Given the description of an element on the screen output the (x, y) to click on. 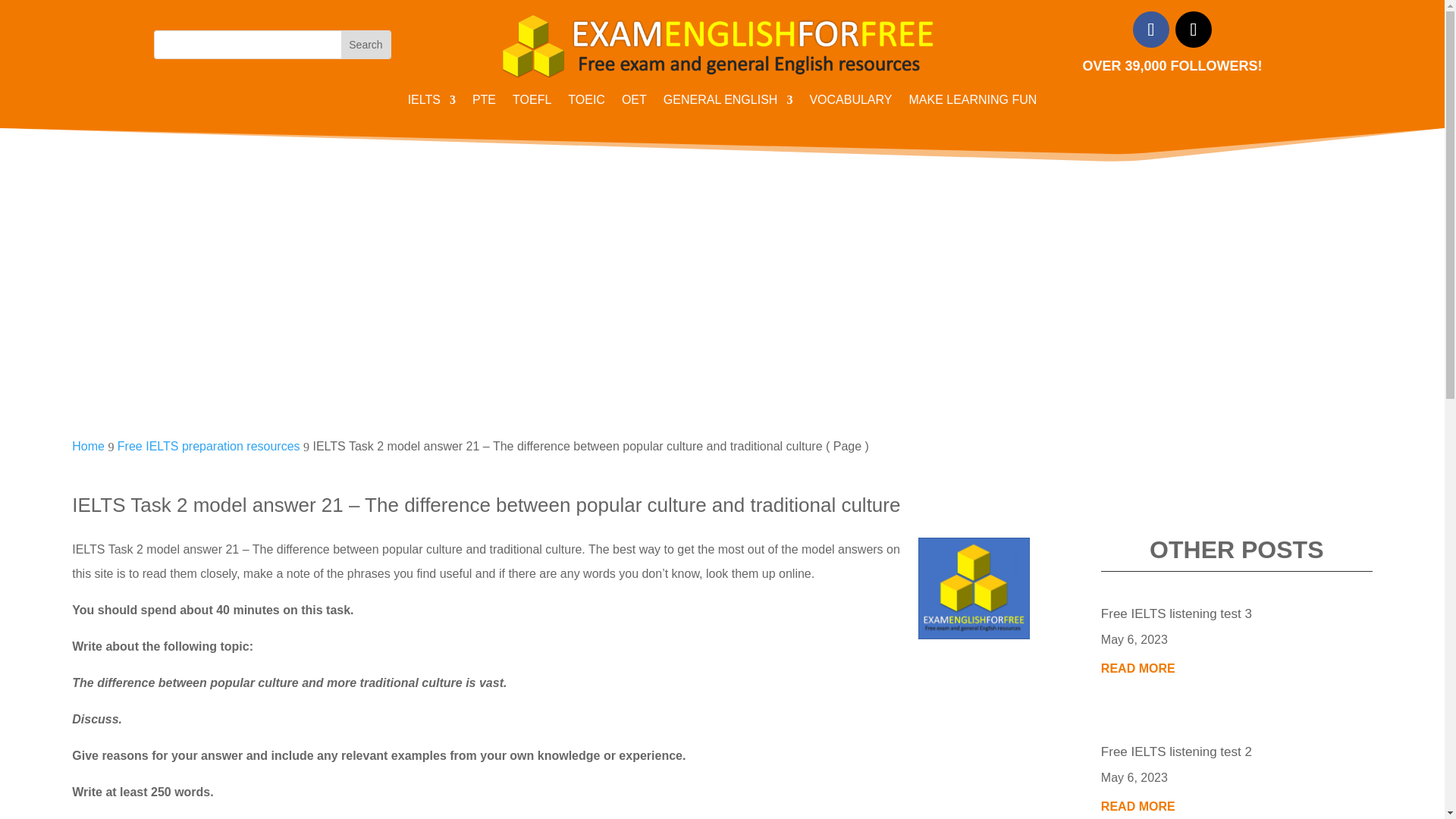
TOEIC (586, 103)
IELTS (431, 103)
PTE (483, 103)
Search (365, 44)
Follow on Facebook (1150, 29)
TOEFL (531, 103)
VOCABULARY (850, 103)
Search (365, 44)
Exam English For Free (722, 44)
MAKE LEARNING FUN (972, 103)
OET (633, 103)
Search (365, 44)
GENERAL ENGLISH (728, 103)
Follow on X (1192, 29)
